Given the description of an element on the screen output the (x, y) to click on. 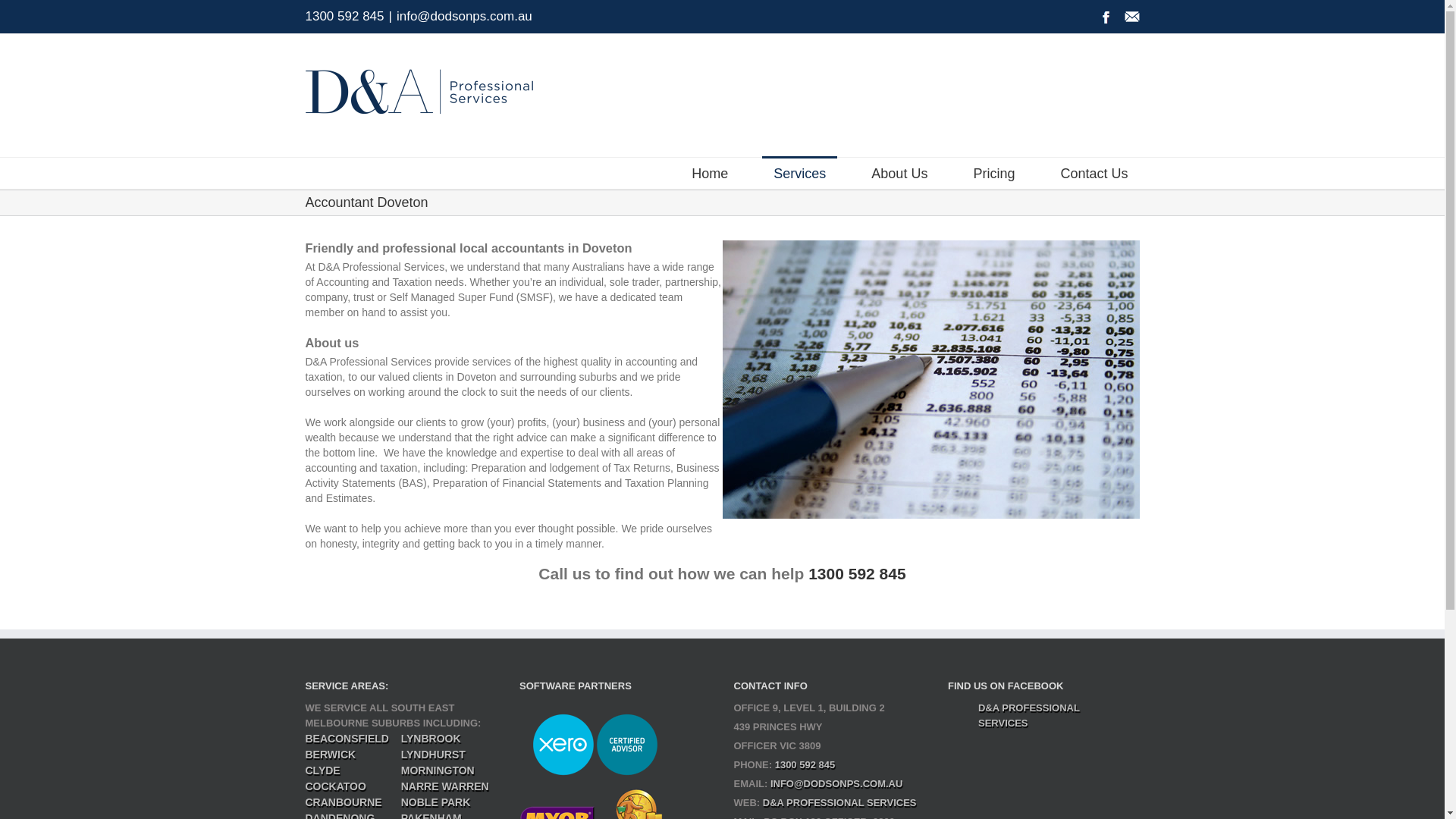
CLYDE Element type: text (321, 770)
1300 592 845 Element type: text (805, 764)
MORNINGTON Element type: text (437, 770)
Pricing Element type: text (993, 172)
COCKATOO Element type: text (334, 786)
LYNDHURST Element type: text (433, 754)
LYNBROOK Element type: text (431, 738)
BERWICK Element type: text (329, 754)
CRANBOURNE Element type: text (342, 802)
INFO@DODSONPS.COM.AU Element type: text (836, 783)
NOBLE PARK Element type: text (435, 802)
Contact Us Element type: text (1093, 172)
Services Element type: text (799, 172)
info@dodsonps.com.au Element type: text (464, 16)
1300 592 845 Element type: text (856, 573)
Facebook Element type: hover (1105, 17)
BEACONSFIELD Element type: text (346, 738)
Home Element type: text (709, 172)
1300 592 845 Element type: text (343, 16)
D&A PROFESSIONAL SERVICES Element type: text (839, 802)
Email Element type: hover (1131, 17)
NARRE WARREN Element type: text (445, 786)
D&A PROFESSIONAL SERVICES Element type: text (1028, 715)
About Us Element type: text (898, 172)
